Given the description of an element on the screen output the (x, y) to click on. 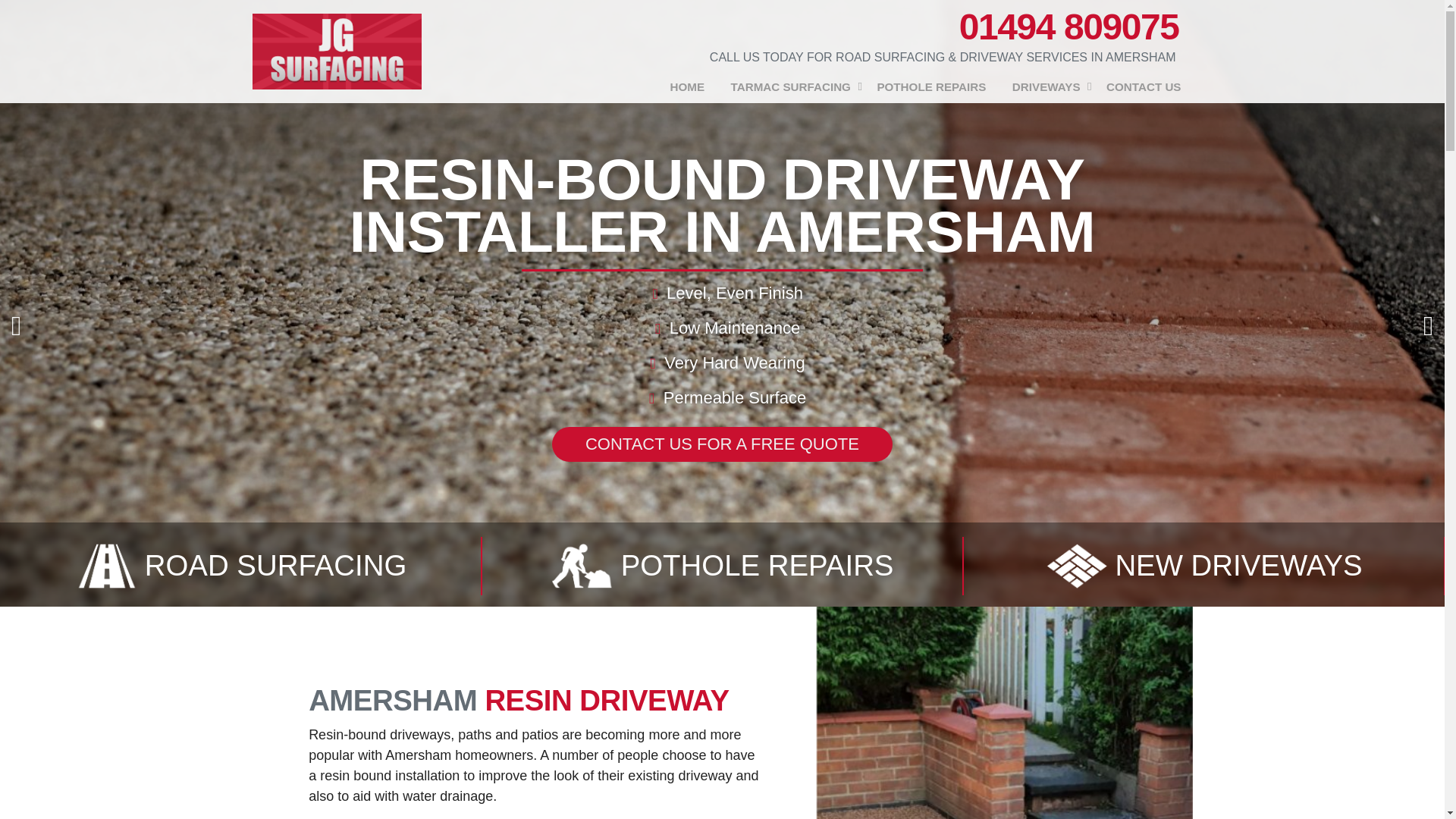
CONTACT US (1143, 87)
DRIVEWAYS (1046, 87)
TARMAC SURFACING (790, 87)
HOME (687, 87)
01494 809075 (1069, 27)
POTHOLE REPAIRS (930, 87)
